Given the description of an element on the screen output the (x, y) to click on. 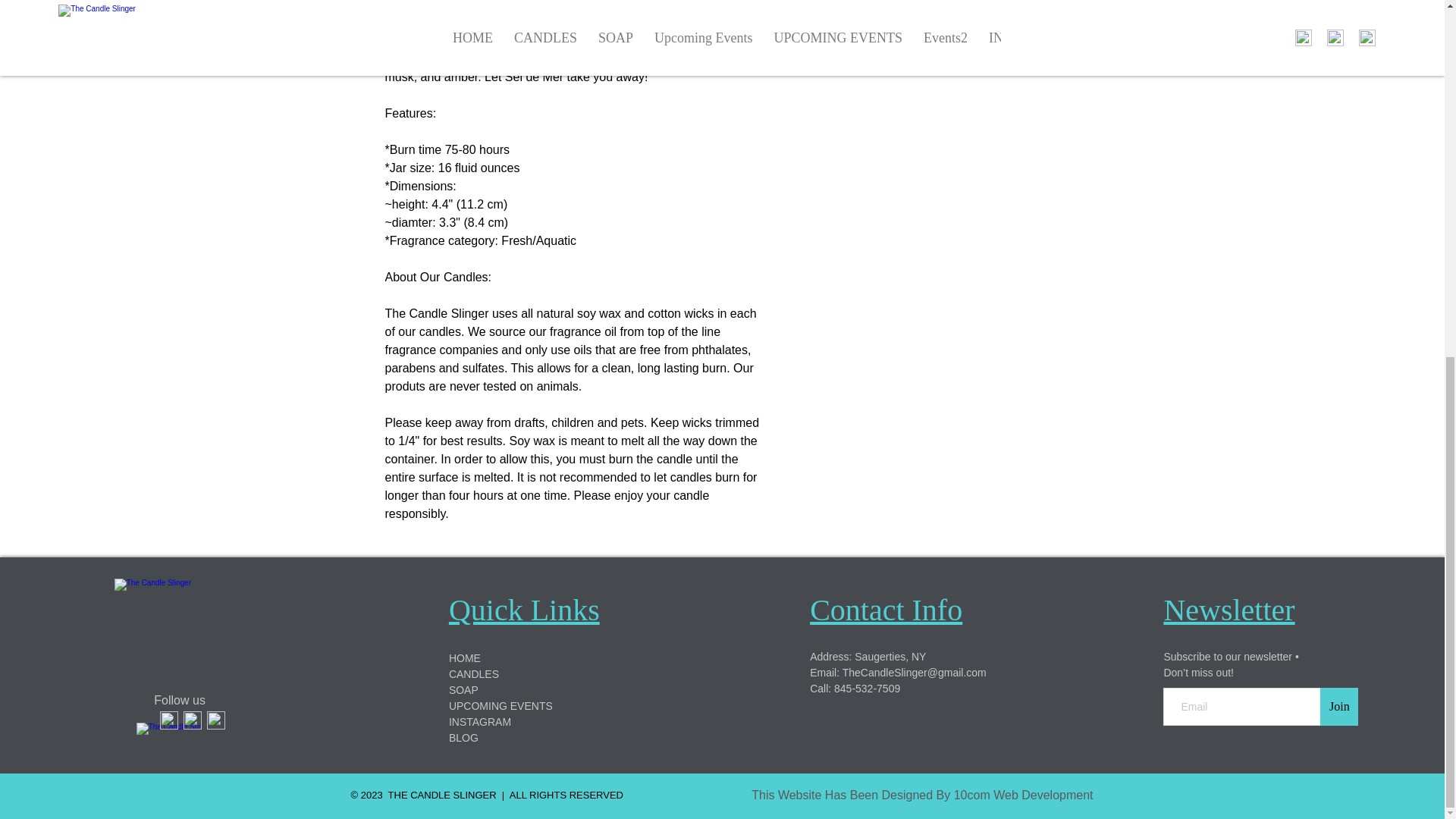
SOAP (463, 689)
INSTAGRAM (479, 721)
CANDLES (473, 674)
HOME (464, 657)
